Given the description of an element on the screen output the (x, y) to click on. 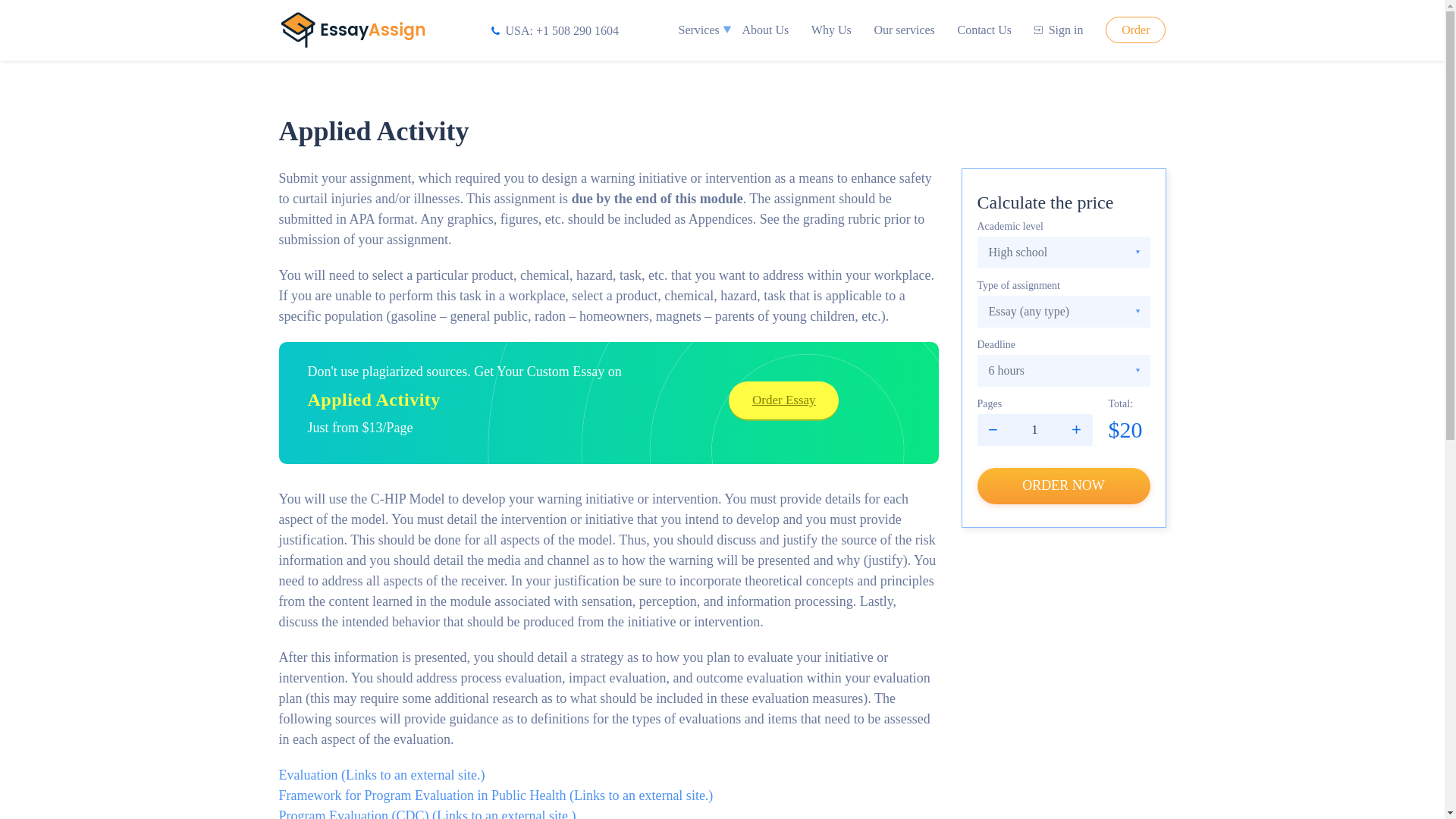
Order Essay (783, 400)
Evaluation - opens in a new window (381, 774)
About Us (765, 29)
Program Evaluation - opens in a new window (427, 813)
ORDER NOW (1063, 485)
Order (1135, 29)
Contact Us (983, 29)
1 (1034, 429)
Why Us (830, 29)
Our services (903, 29)
Sign in (1058, 29)
